Given the description of an element on the screen output the (x, y) to click on. 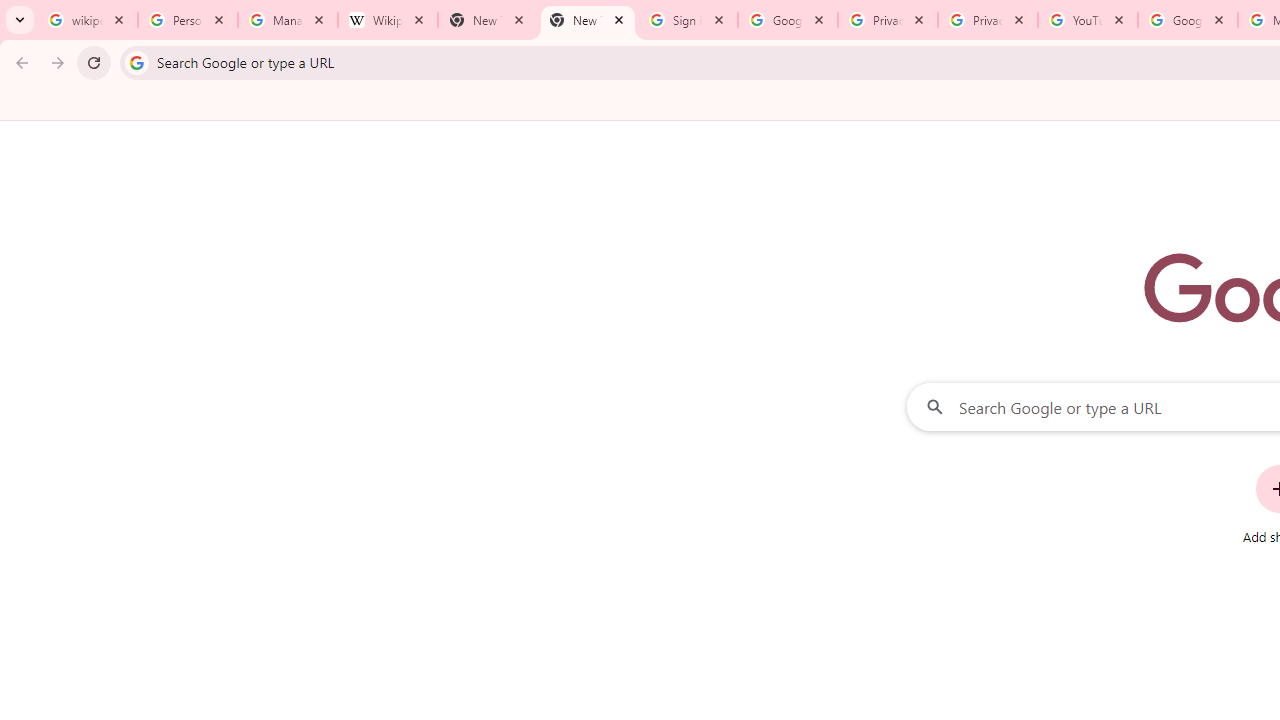
New Tab (487, 20)
Manage your Location History - Google Search Help (287, 20)
Google Drive: Sign-in (788, 20)
YouTube (1087, 20)
New Tab (587, 20)
